Given the description of an element on the screen output the (x, y) to click on. 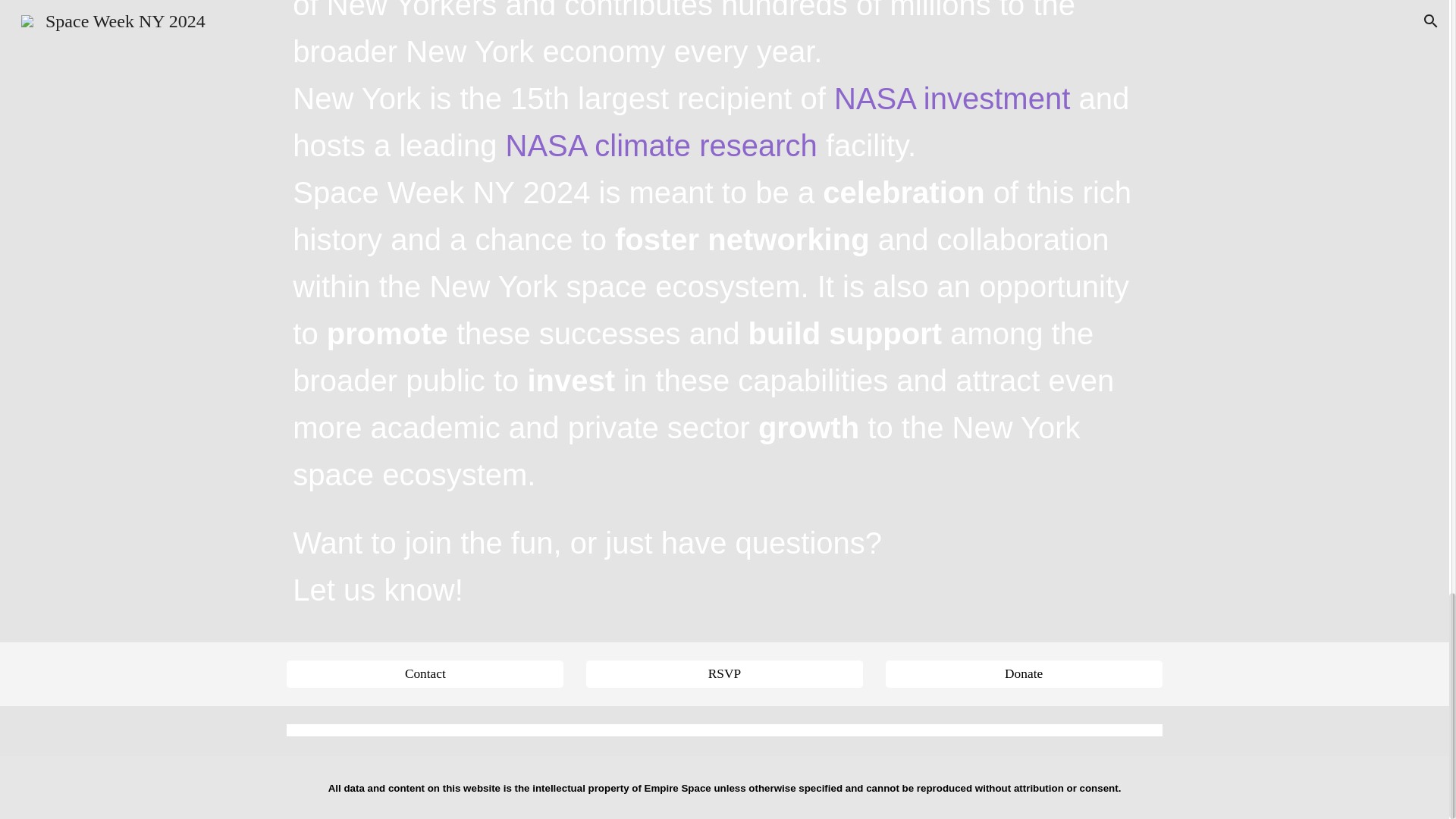
NASA investment (952, 104)
Donate (1023, 673)
NASA climate research (660, 151)
RSVP (723, 673)
Contact (424, 673)
